Given the description of an element on the screen output the (x, y) to click on. 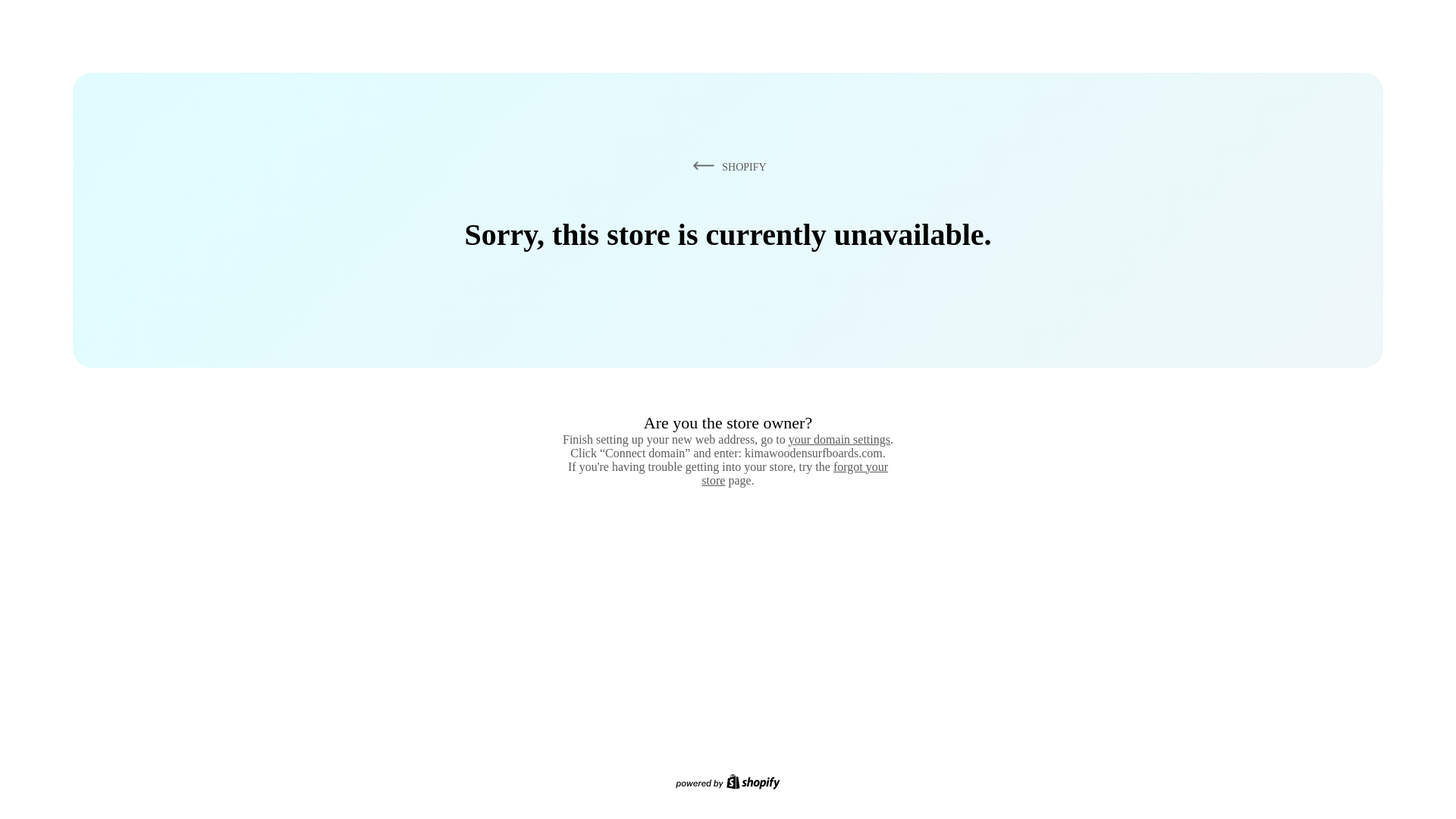
SHOPIFY (726, 166)
your domain settings (839, 439)
forgot your store (794, 473)
